Given the description of an element on the screen output the (x, y) to click on. 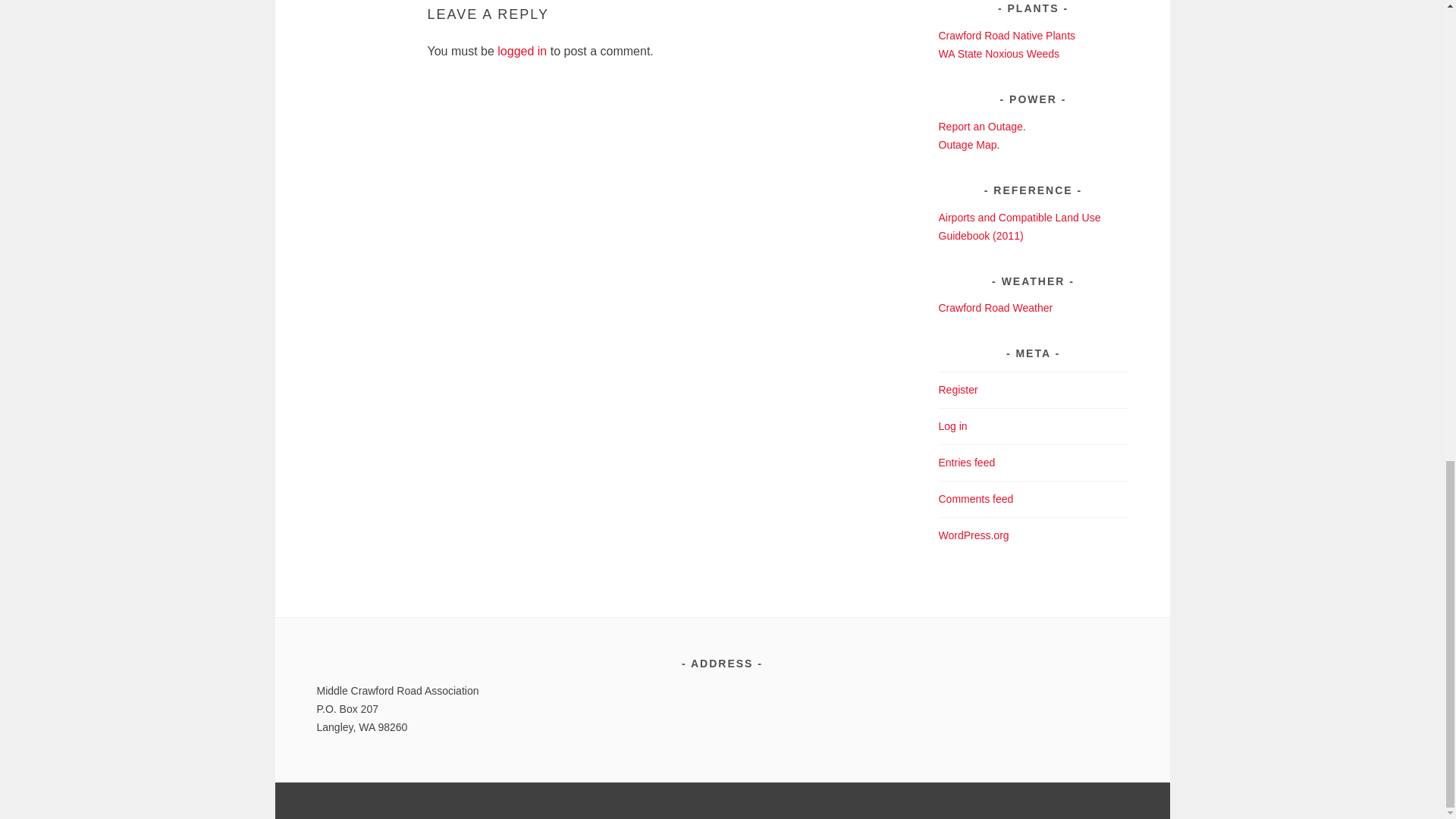
logged in (522, 51)
